Given the description of an element on the screen output the (x, y) to click on. 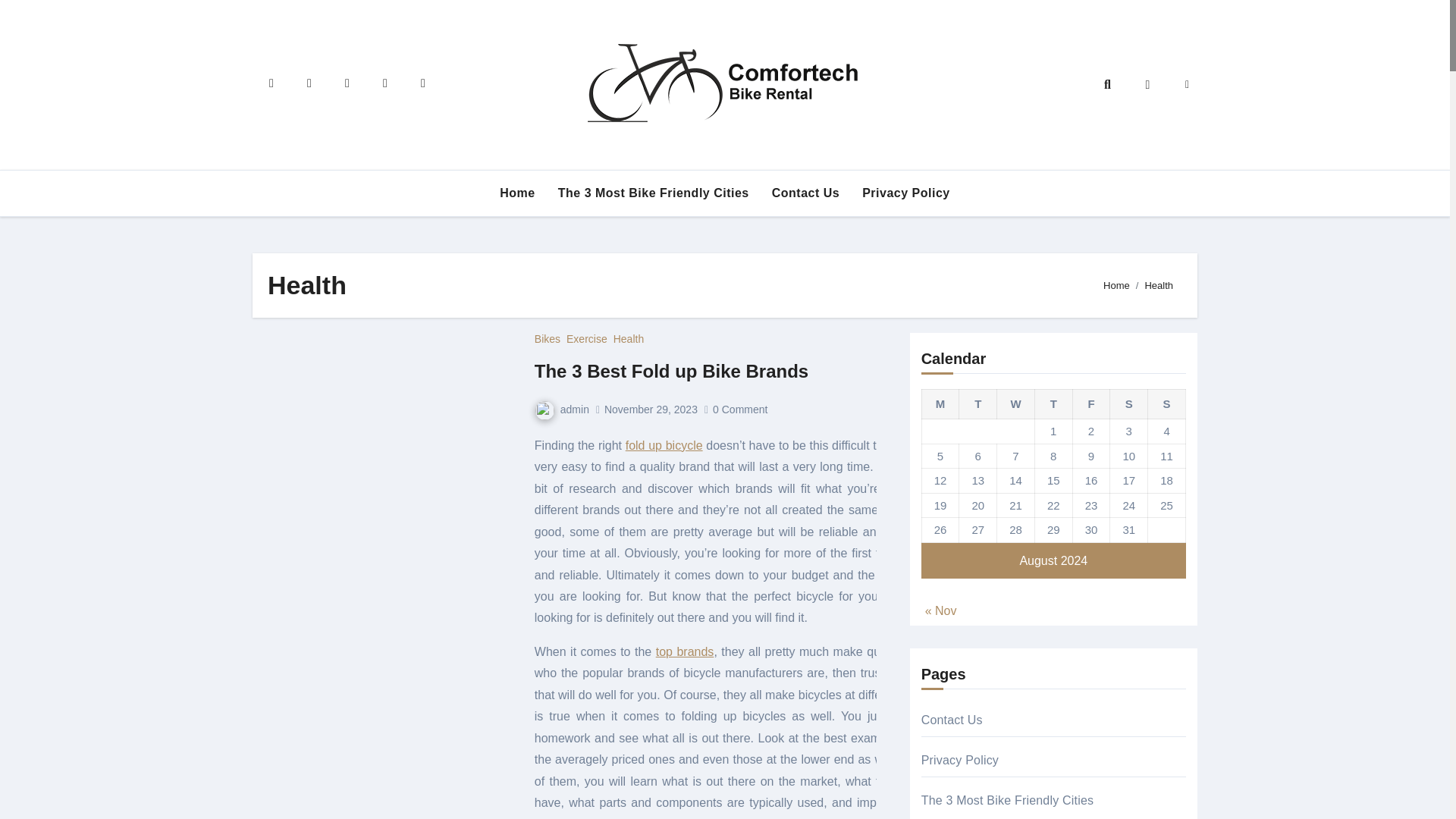
Monday (940, 404)
Contact Us (805, 192)
0Comment (741, 409)
The 3 Best Fold up Bike Brands (671, 371)
Contact Us (805, 192)
Home (516, 192)
Home (516, 192)
The 3 Most Bike Friendly Cities (653, 192)
fold up bicycle (664, 445)
Health (627, 338)
